Given the description of an element on the screen output the (x, y) to click on. 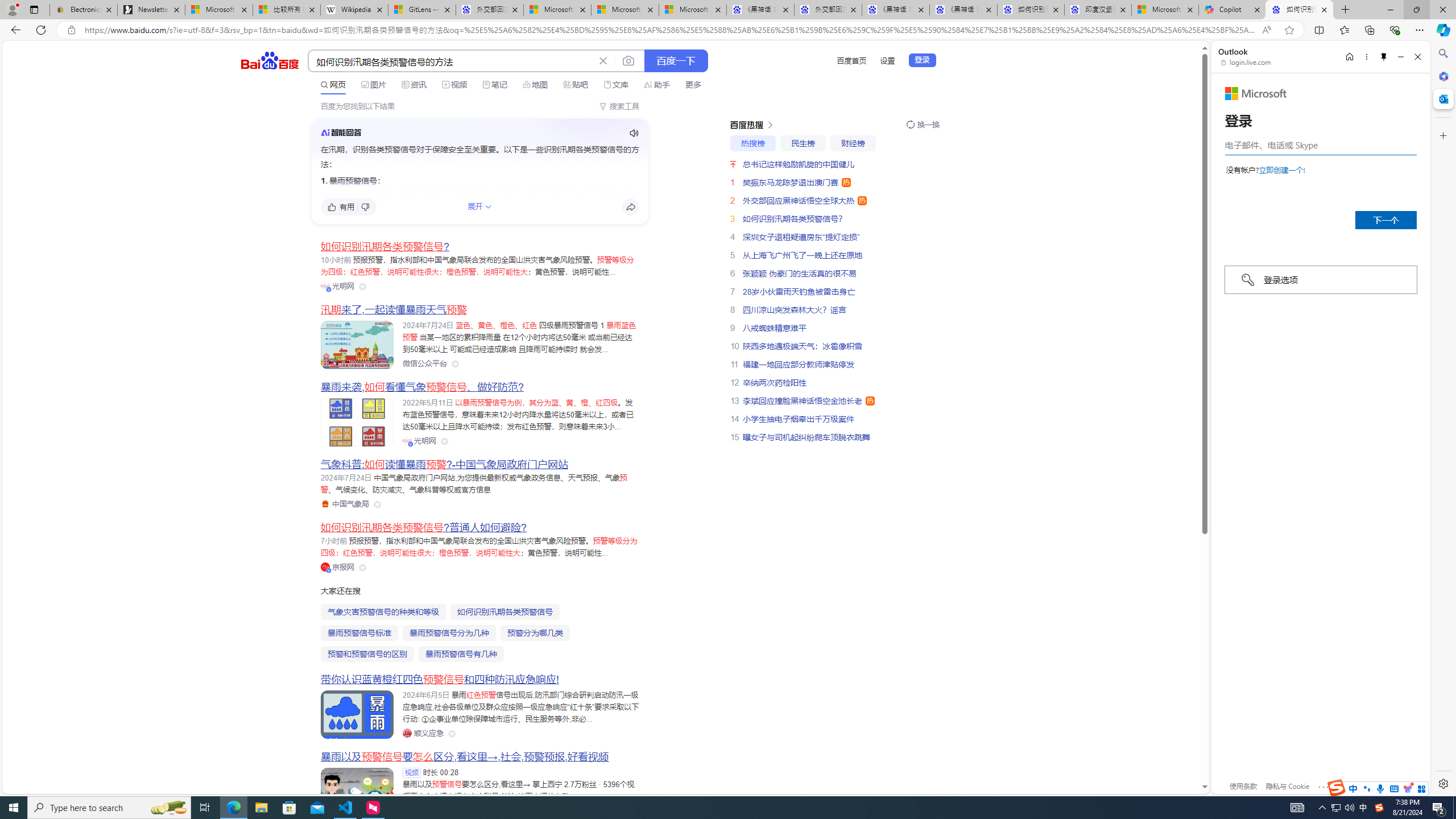
AutomationID: kw (451, 61)
